Given the description of an element on the screen output the (x, y) to click on. 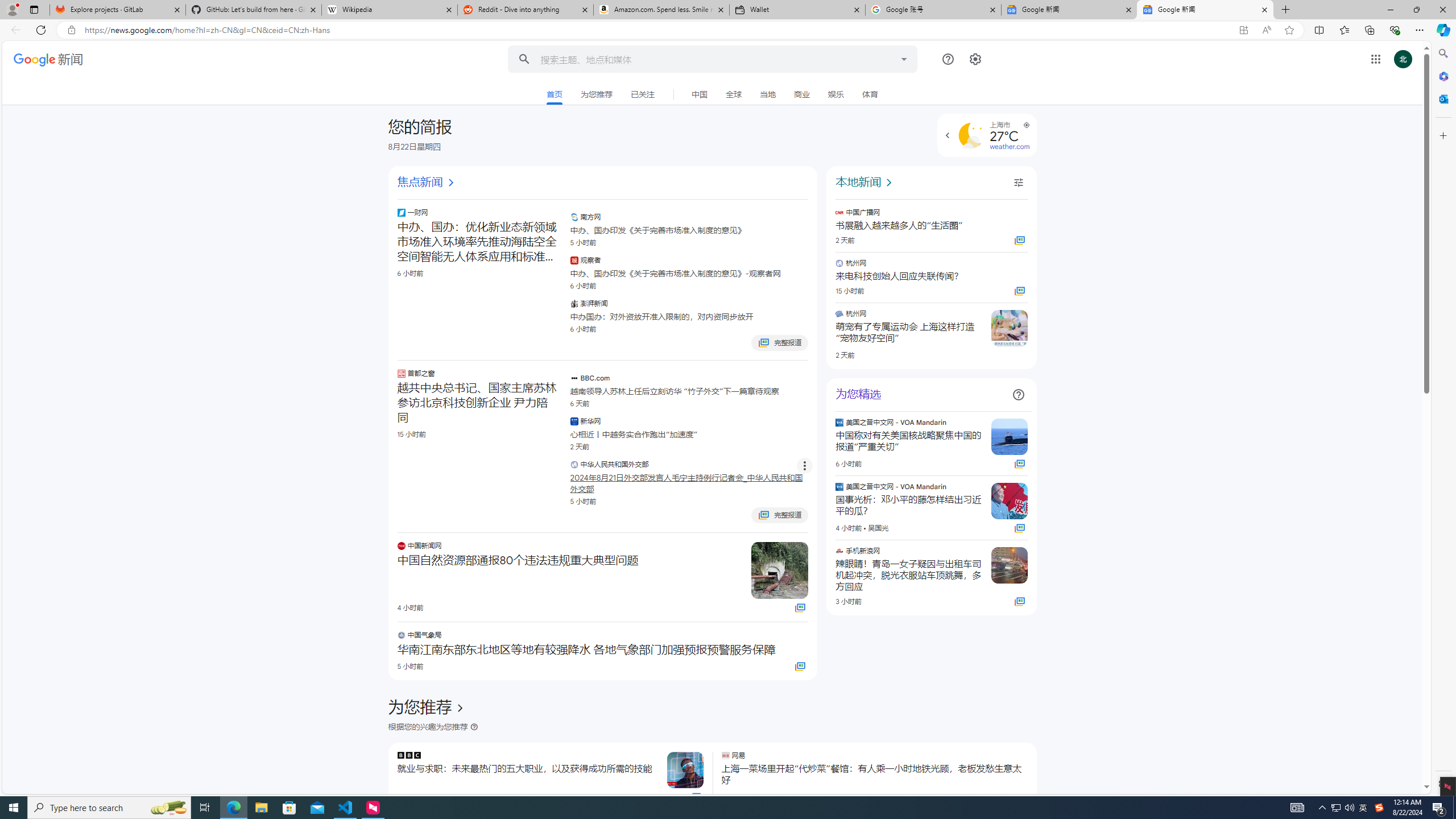
Class: ZmiOCf NMm5M (1018, 394)
Class:  NMm5M hhikbc (947, 134)
